Given the description of an element on the screen output the (x, y) to click on. 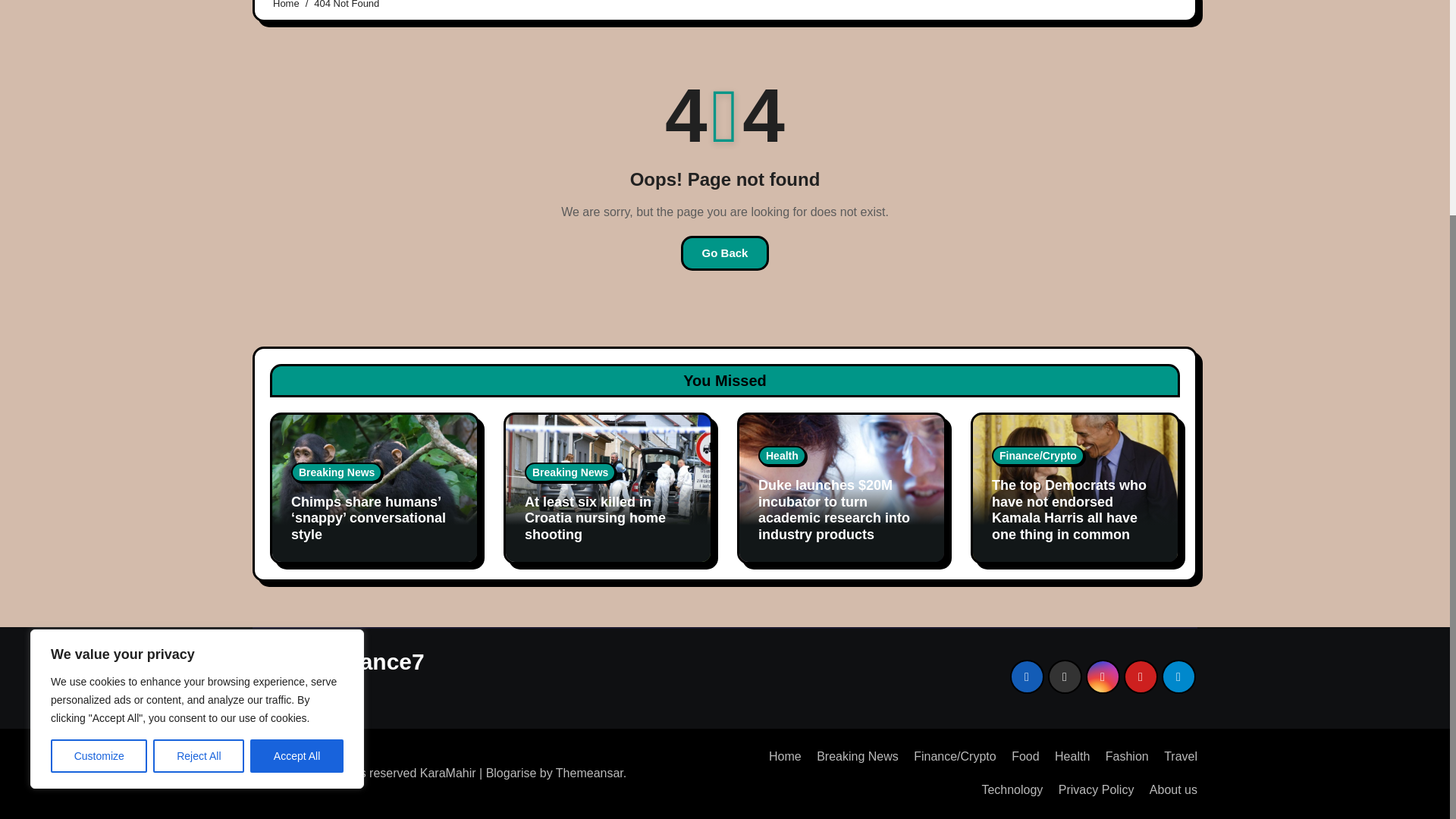
Breaking News (851, 756)
Breaking News (336, 472)
Accept All (296, 463)
Go Back (725, 253)
Home (779, 756)
Reject All (198, 463)
Customize (98, 463)
Home (286, 4)
